Given the description of an element on the screen output the (x, y) to click on. 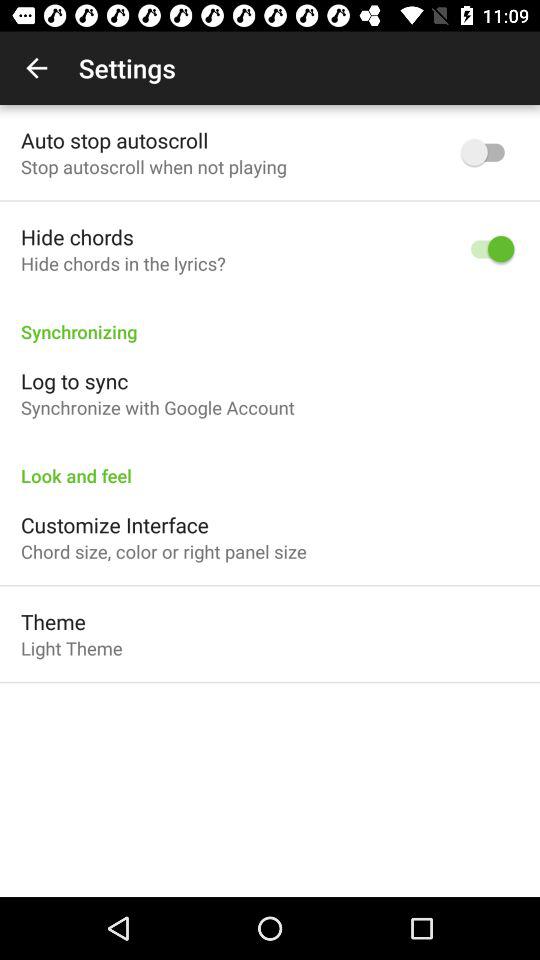
click the icon above the synchronize with google icon (74, 380)
